Given the description of an element on the screen output the (x, y) to click on. 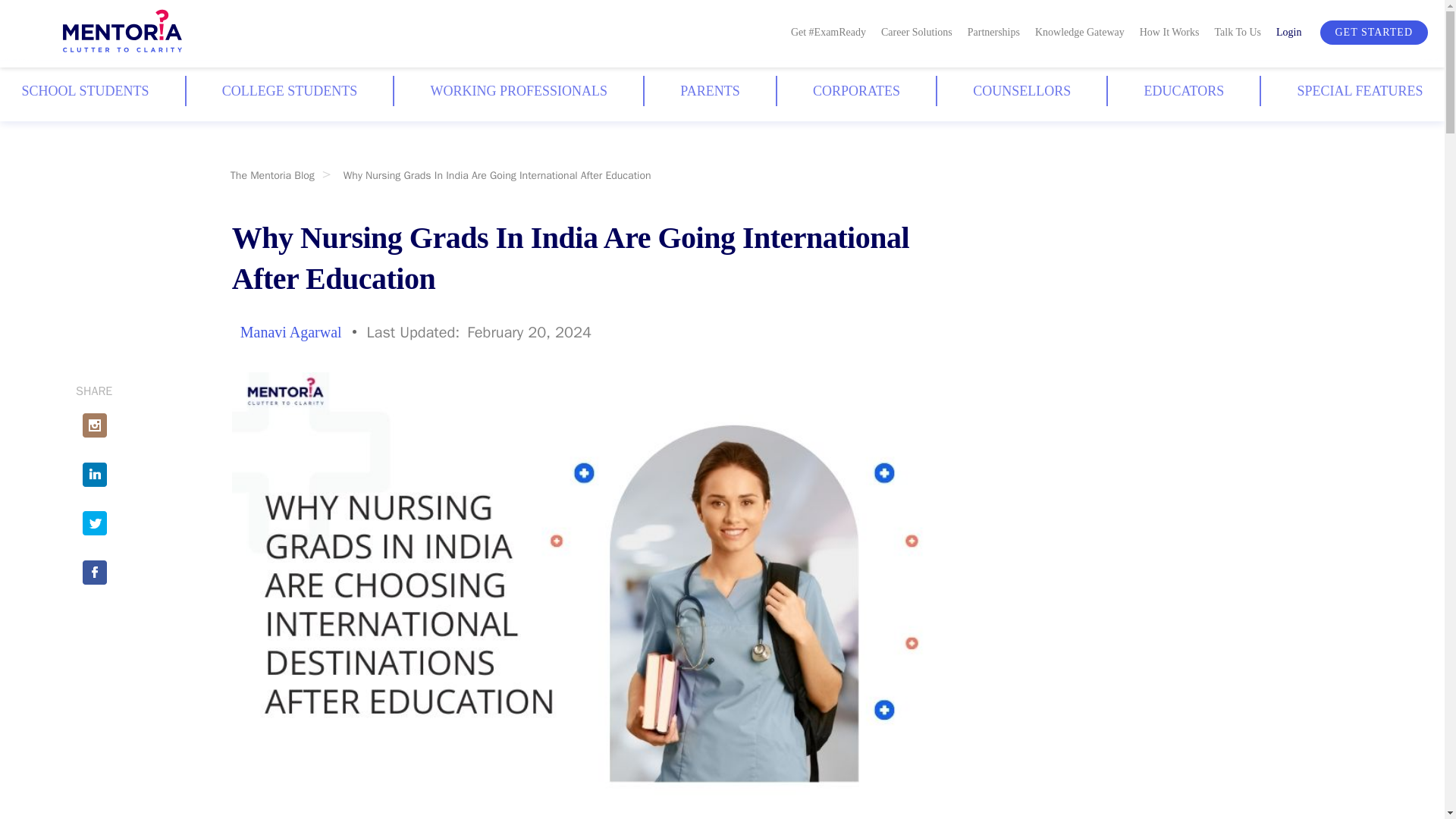
Career Solutions (916, 30)
Mentoria (123, 34)
